Given the description of an element on the screen output the (x, y) to click on. 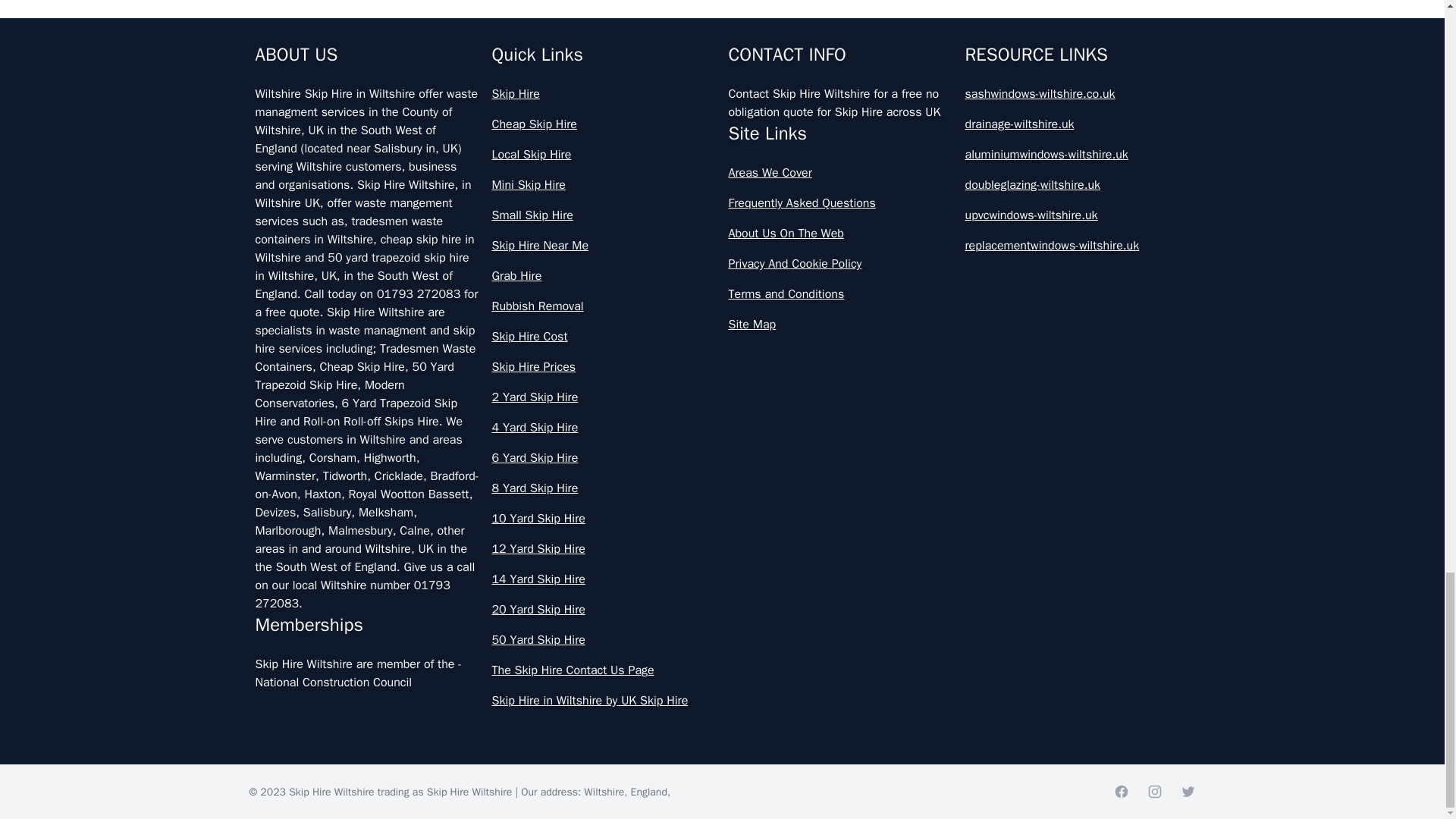
Do Skip Hire Companies Recycle In Wiltshire (722, 503)
doubleglazing-wiltshire.uk (1076, 185)
Skip Hire in Wiltshire by UK Skip Hire (604, 700)
drainage-wiltshire.uk (1076, 124)
Does Skip Hire Include Disposal In Wiltshire (722, 636)
aluminiumwindows-wiltshire.uk (1076, 154)
upvcwindows-wiltshire.uk (1076, 215)
Can You Put Anything In A Hired Skip In Wiltshire (722, 369)
How Do I Hire A Skip In Wiltshire (722, 770)
Can You Hire A Skip For Garden Waste In Wiltshire (722, 102)
Do I Need A Permit To Hire A Skip In Wiltshire (722, 436)
Can You Hire A Skip For An Hour In Wiltshire (722, 36)
Can You Hire A Skip For One Day In Wiltshire (722, 169)
Can You Hire A Skip In Wiltshire (722, 236)
Can You Hire Skips In Wiltshire (722, 303)
